Given the description of an element on the screen output the (x, y) to click on. 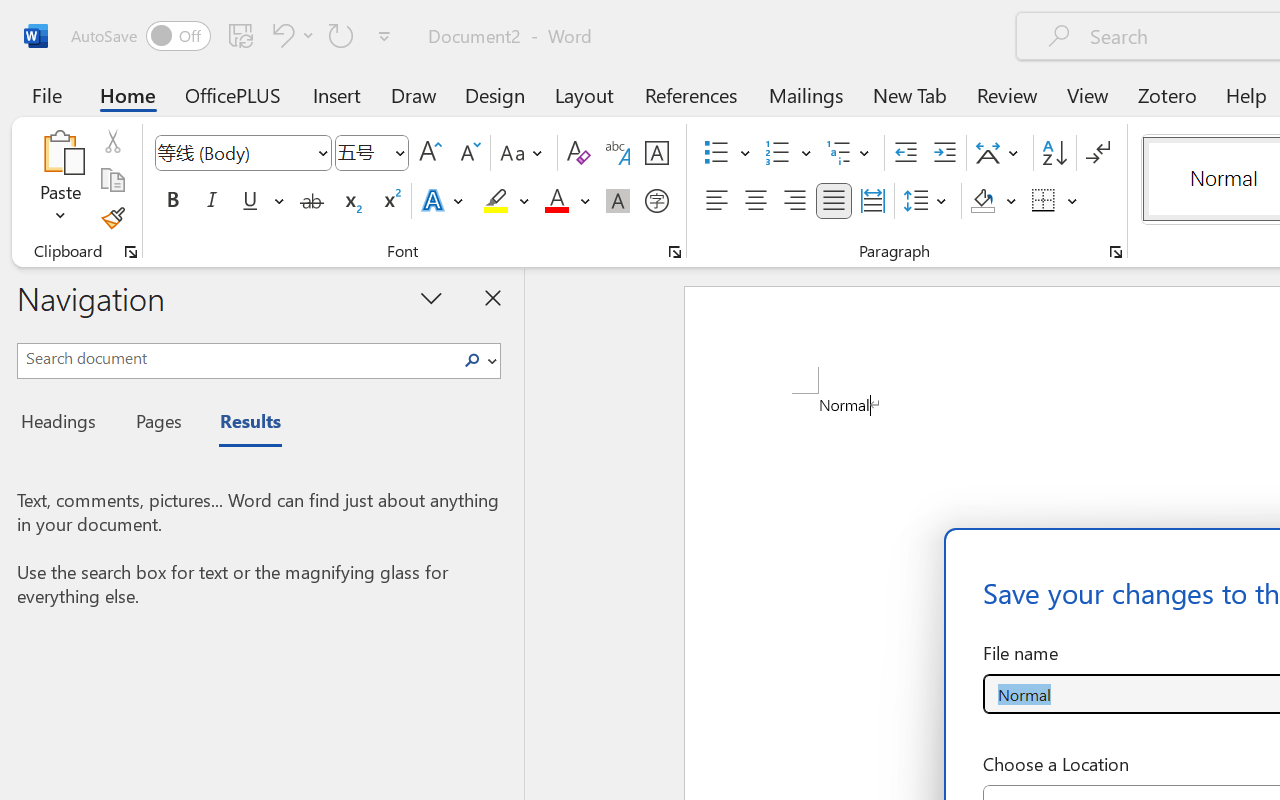
Paragraph... (1115, 252)
Font (234, 152)
Font (242, 153)
Results (240, 424)
Borders (1044, 201)
More Options (1073, 201)
Mailings (806, 94)
Align Right (794, 201)
Superscript (390, 201)
Phonetic Guide... (618, 153)
Office Clipboard... (131, 252)
Underline (261, 201)
Distributed (872, 201)
Bullets (727, 153)
References (690, 94)
